Given the description of an element on the screen output the (x, y) to click on. 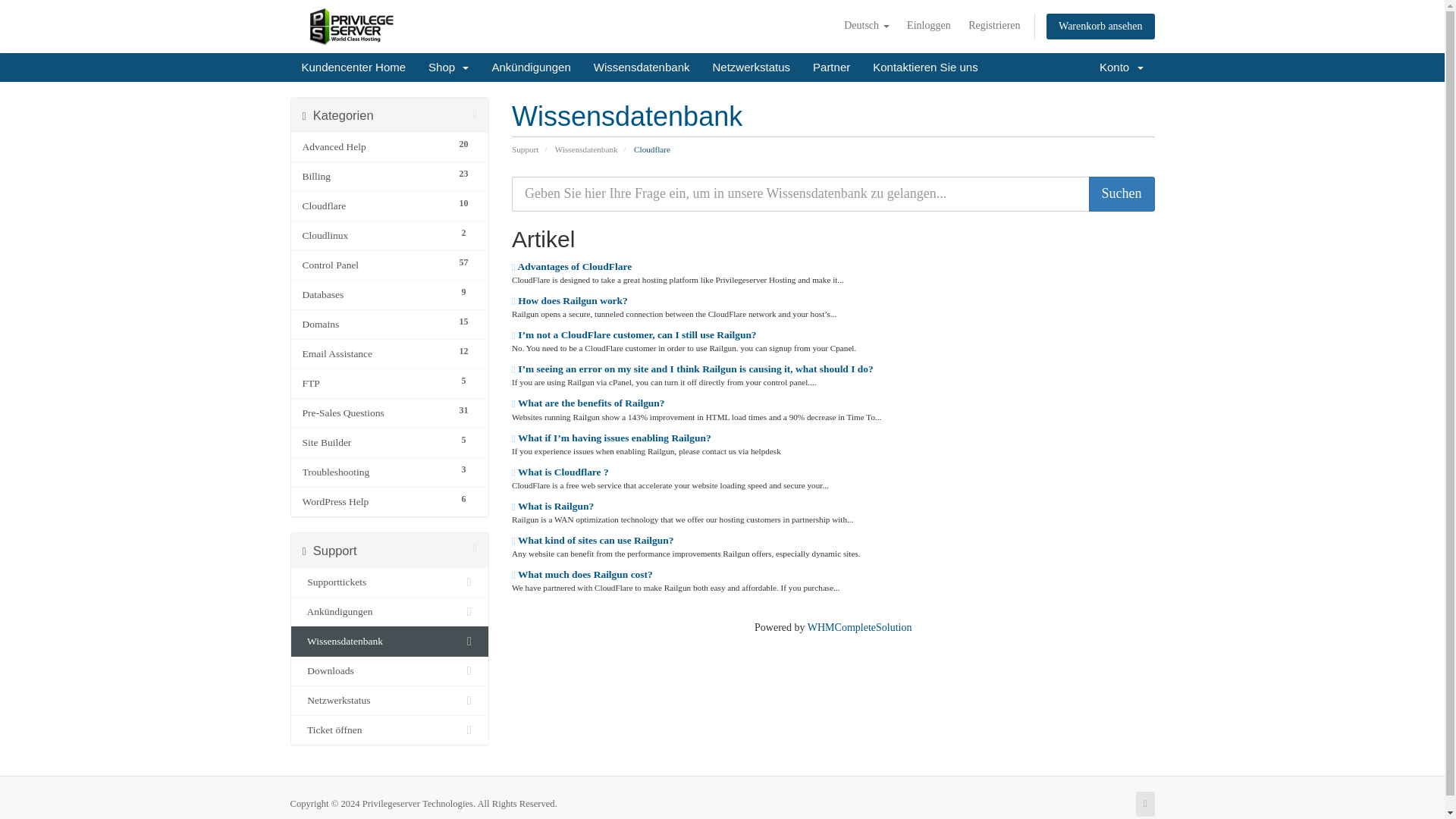
Troubleshooting (375, 472)
Billing (375, 176)
Registrieren (993, 25)
Deutsch (865, 25)
Shop   (448, 67)
WordPress Help (375, 502)
FTP (375, 383)
Kundencenter Home (352, 67)
Control Panel (375, 265)
Cloudflare (375, 206)
Domains (375, 324)
Cloudlinux (375, 235)
Advanced Help (375, 147)
Pre-Sales Questions (375, 413)
Databases (375, 294)
